Given the description of an element on the screen output the (x, y) to click on. 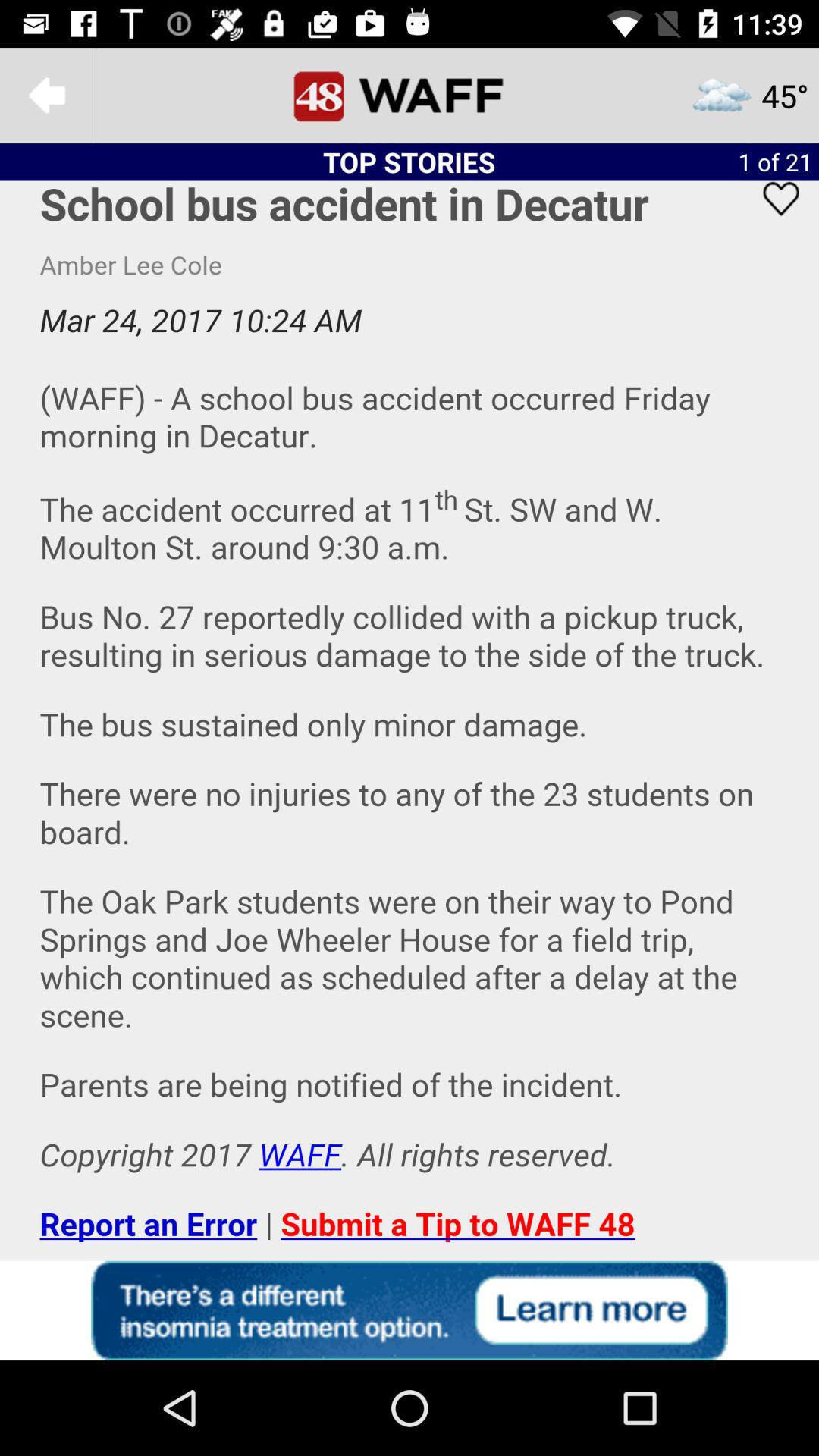
goes to main menu (409, 95)
